Given the description of an element on the screen output the (x, y) to click on. 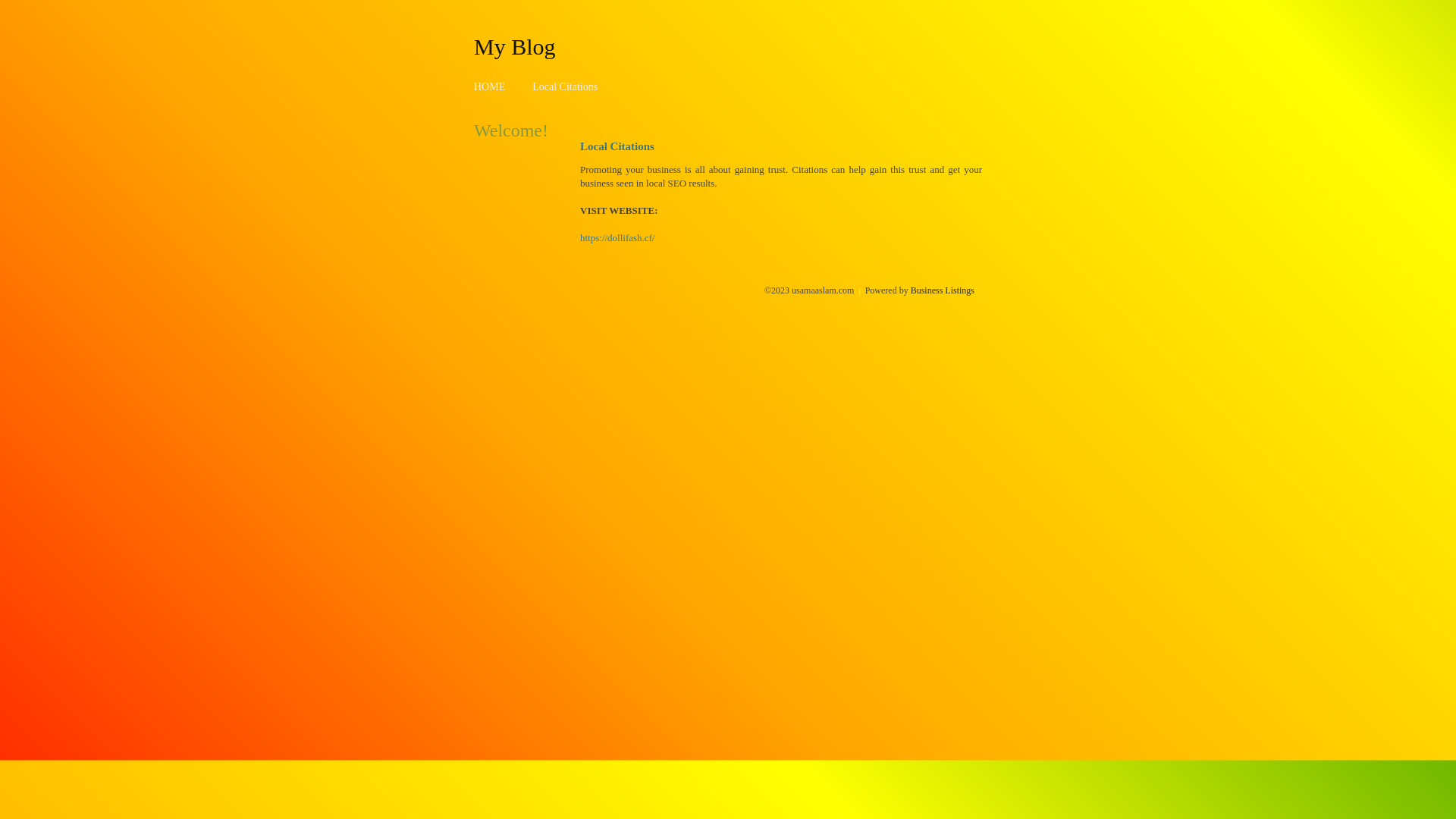
https://dollifash.cf/ Element type: text (617, 237)
Local Citations Element type: text (564, 86)
Business Listings Element type: text (942, 290)
HOME Element type: text (489, 86)
My Blog Element type: text (514, 46)
